Given the description of an element on the screen output the (x, y) to click on. 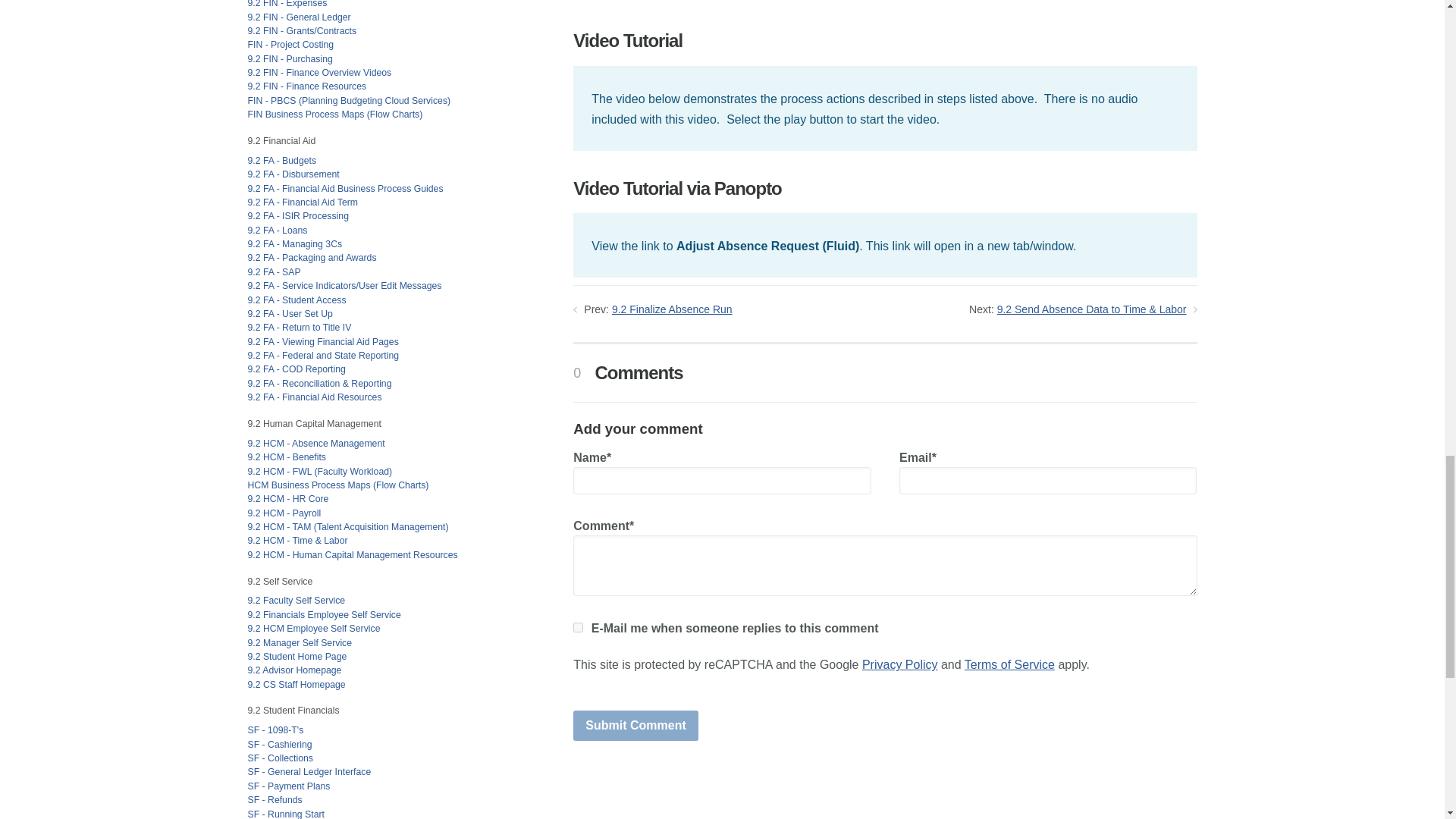
Submit Comment (635, 725)
Privacy Policy (899, 664)
1 (578, 627)
Submit Comment (635, 725)
Terms of Service (1008, 664)
9.2 Finalize Absence Run (671, 309)
